Given the description of an element on the screen output the (x, y) to click on. 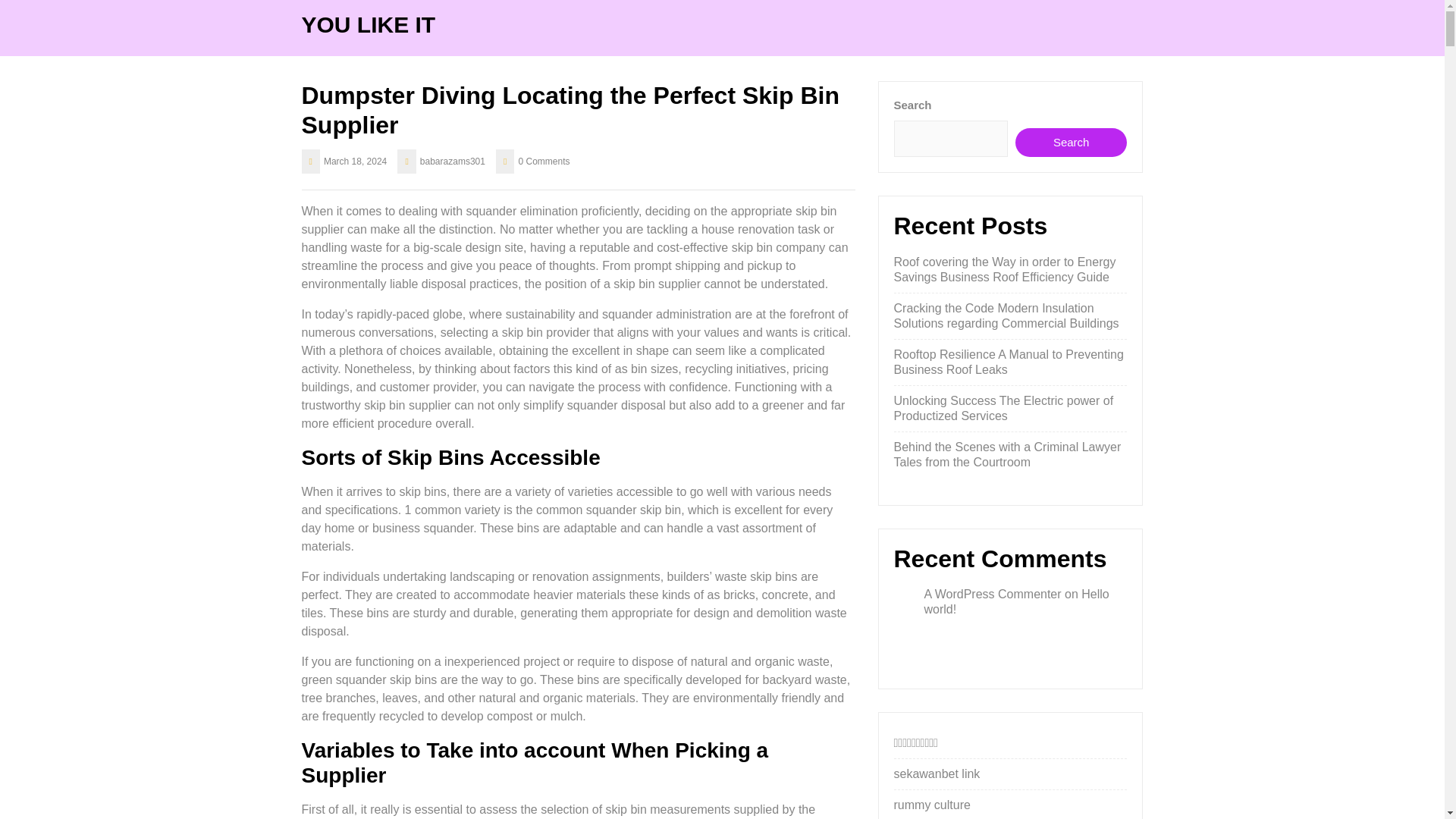
Unlocking Success The Electric power of Productized Services (1003, 407)
Hello world! (1015, 601)
Search (1070, 142)
sekawanbet link (936, 773)
YOU LIKE IT (368, 24)
A WordPress Commenter (992, 594)
rummy culture (931, 804)
